Given the description of an element on the screen output the (x, y) to click on. 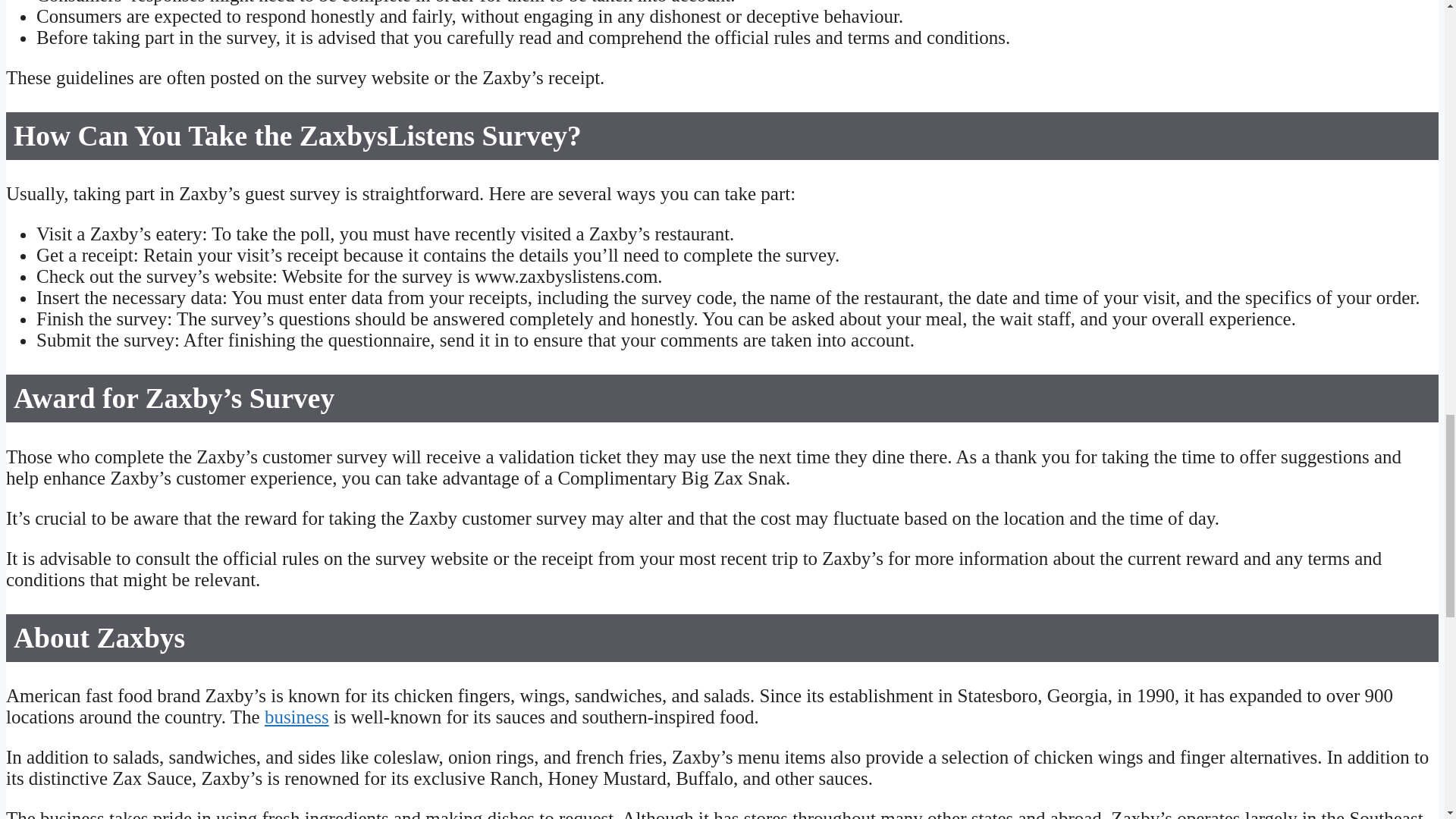
business (296, 716)
